Given the description of an element on the screen output the (x, y) to click on. 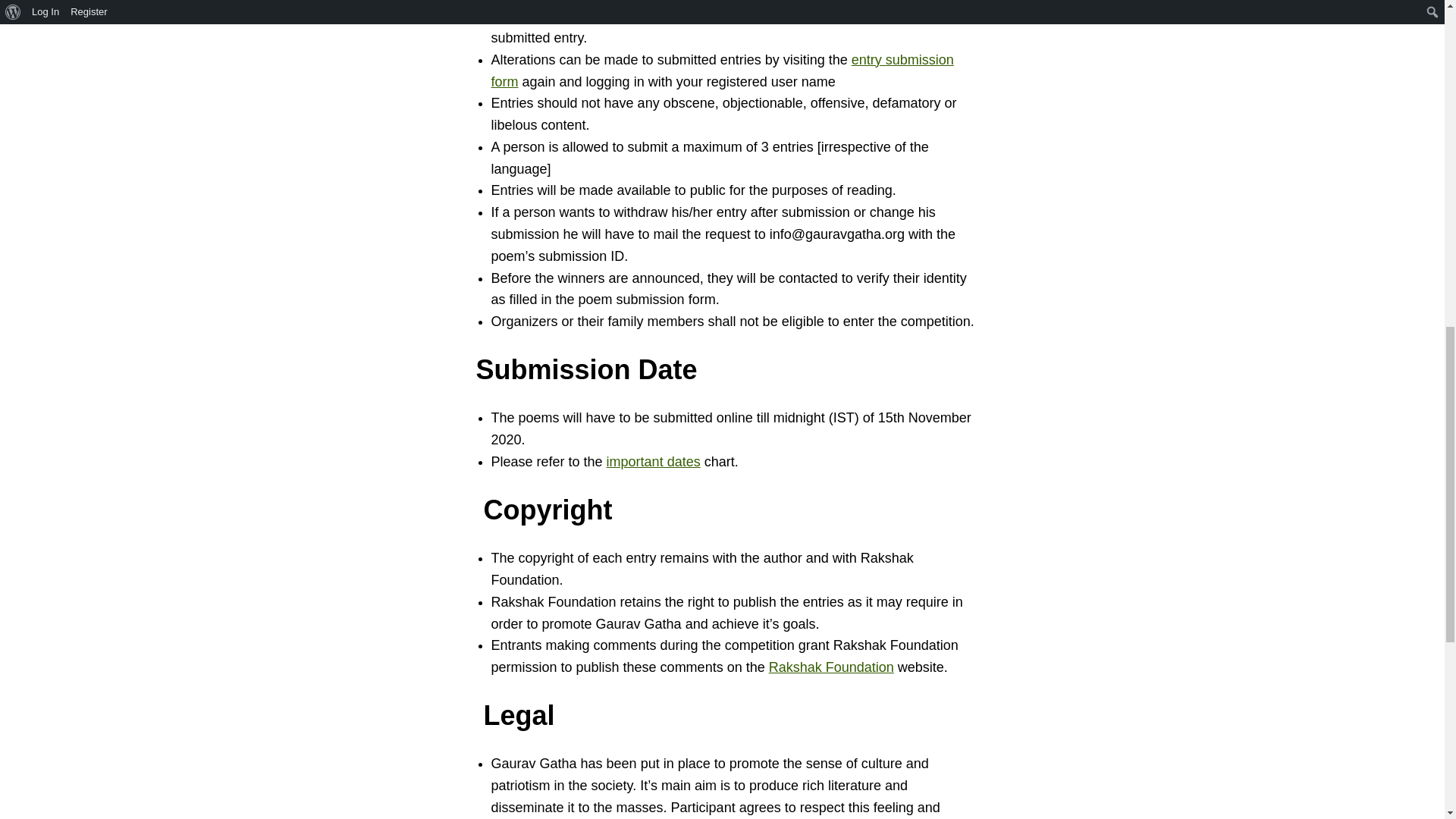
Judging Criteria (622, 0)
important dates (653, 461)
Important Dates (653, 461)
Rakshak Foundation (830, 667)
Rakshak Foundation (830, 667)
entry submission form (722, 70)
Submit your Poem Entry (722, 70)
judged (622, 0)
